Given the description of an element on the screen output the (x, y) to click on. 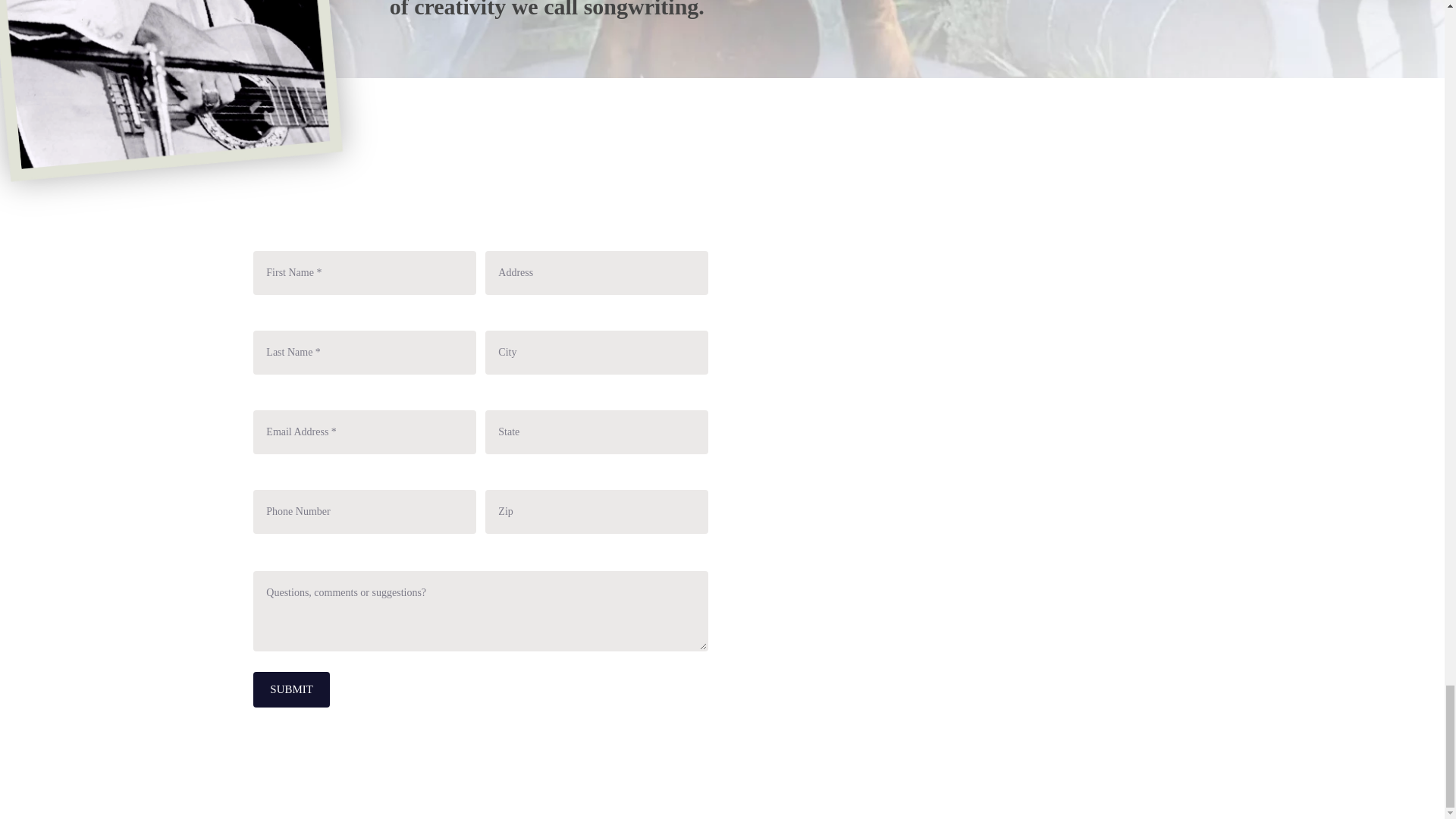
SUBMIT (291, 689)
SUBMIT (291, 689)
